Given the description of an element on the screen output the (x, y) to click on. 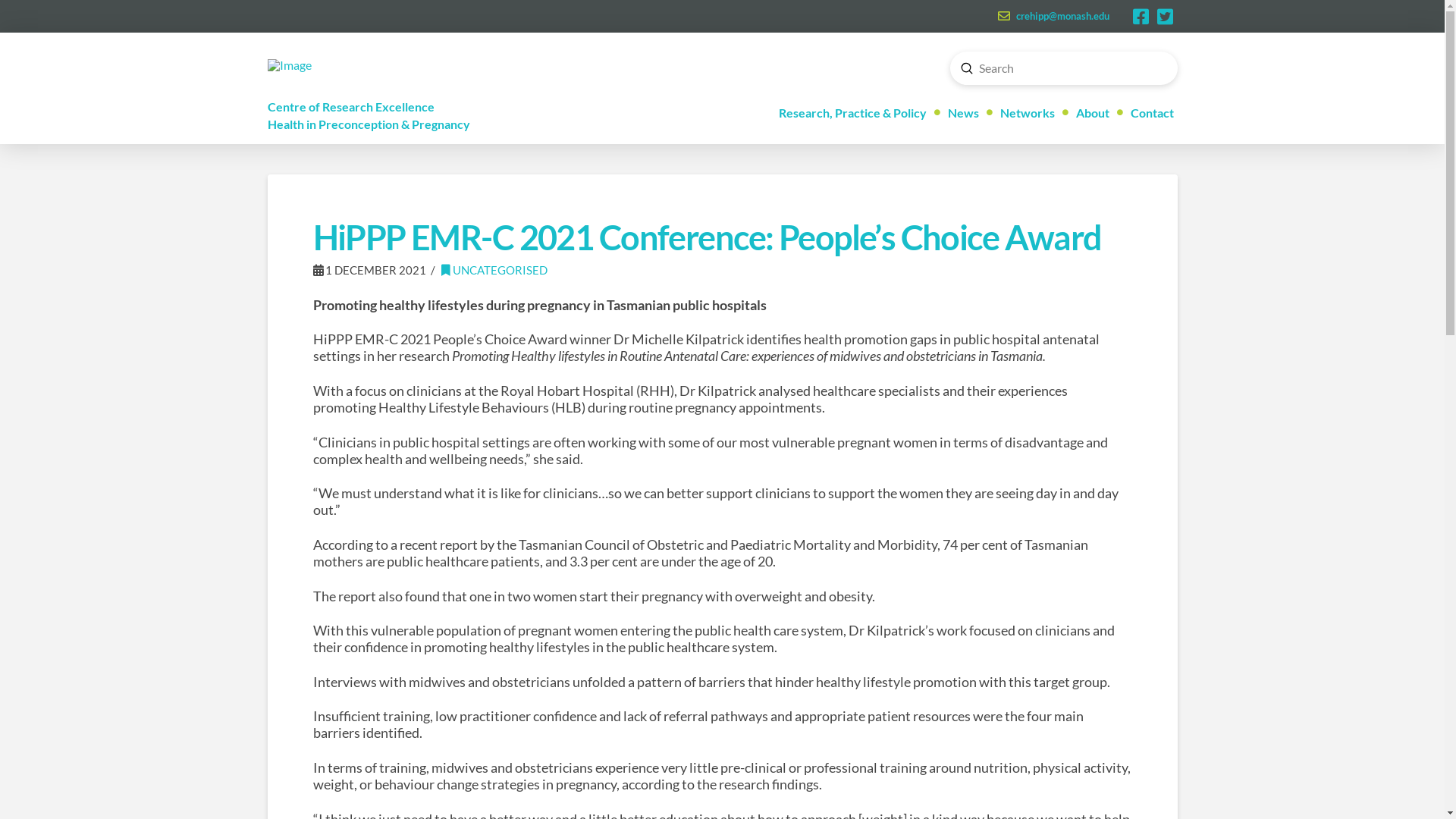
UNCATEGORISED Element type: text (494, 269)
Contact Element type: text (1145, 115)
crehipp@monash.edu Element type: text (1062, 15)
Research, Practice & Policy Element type: text (852, 115)
News Element type: text (955, 115)
About Element type: text (1085, 115)
Networks Element type: text (1020, 115)
Submit Element type: text (966, 68)
